Given the description of an element on the screen output the (x, y) to click on. 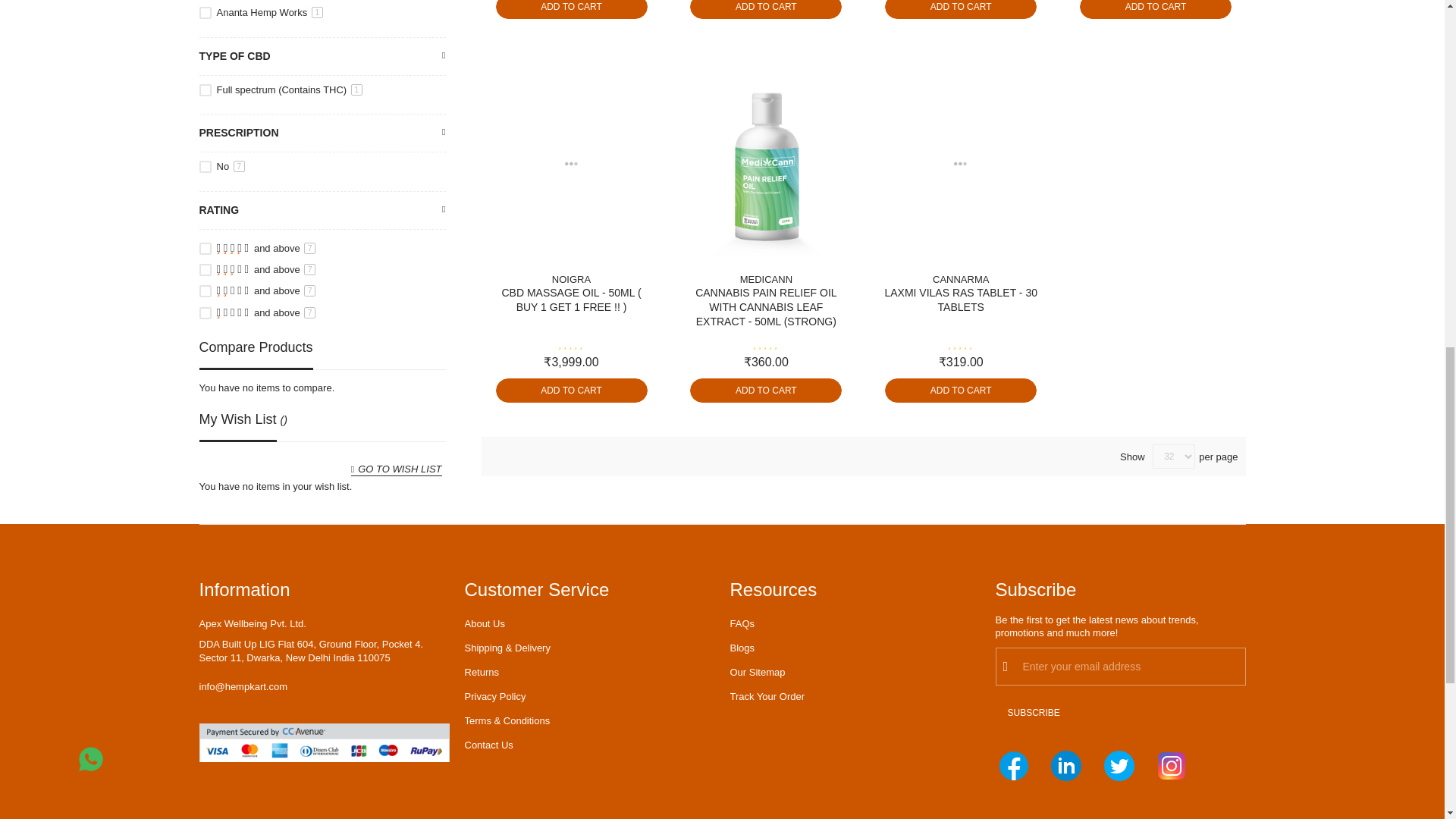
3 (204, 269)
2 (204, 291)
Add to Cart (765, 9)
0 (204, 166)
4 (204, 248)
72 (204, 90)
Add to Cart (1155, 9)
1 (204, 313)
Add to Cart (571, 9)
22 (204, 12)
Add to Cart (960, 9)
